Given the description of an element on the screen output the (x, y) to click on. 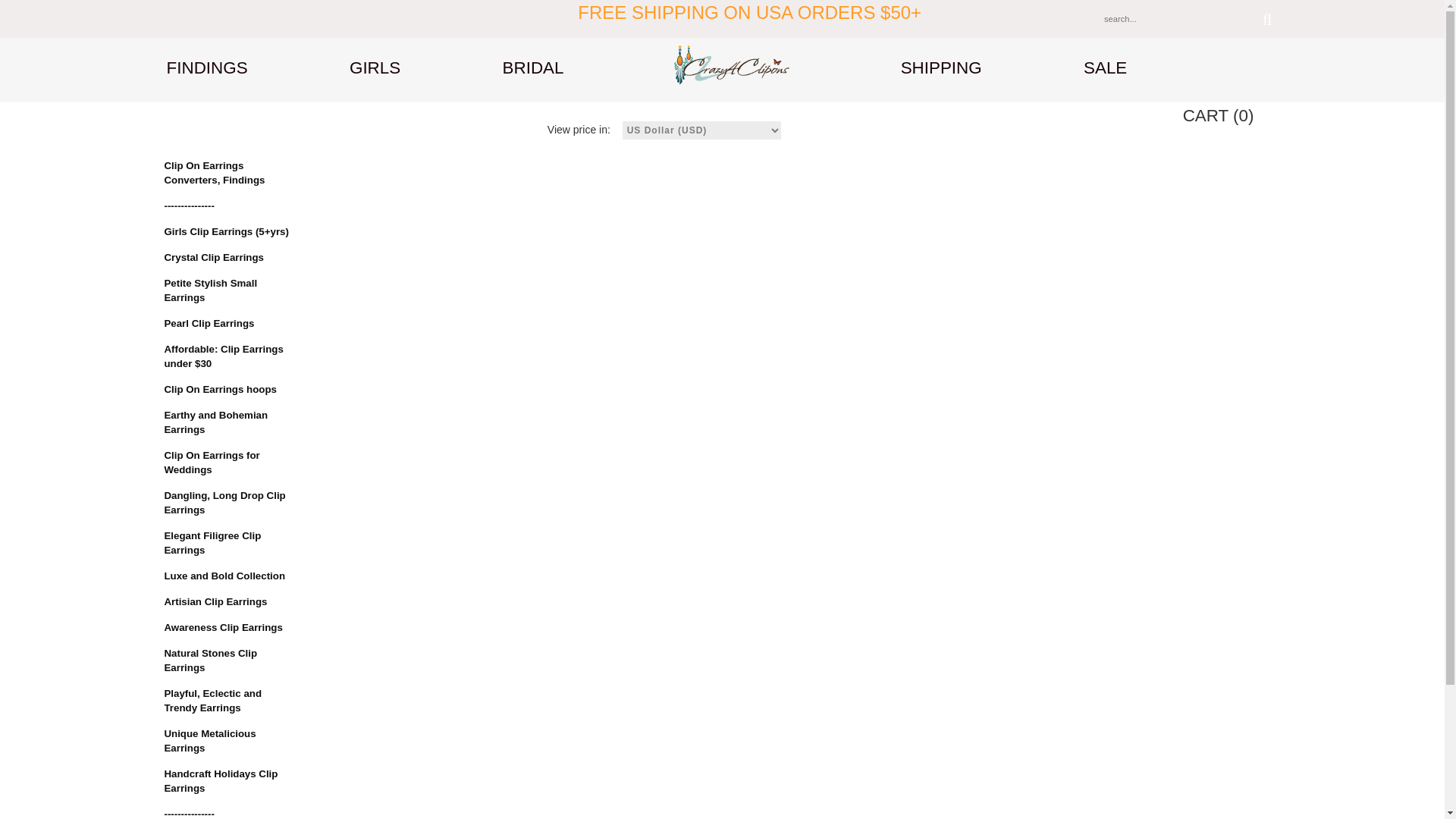
Elegant Filigree Clip Earrings (227, 543)
BRIDAL (533, 68)
Luxe and Bold Collection (227, 576)
Earthy and Bohemian Earrings (227, 422)
Clip On Earrings Converters, Findings (227, 173)
Pearl Clip Earrings (227, 323)
Crystal Clip Earrings (227, 257)
Unique Metalicious Earrings (227, 741)
Clip On Earrings hoops (227, 390)
Handcraft Holidays Clip Earrings (227, 781)
